Given the description of an element on the screen output the (x, y) to click on. 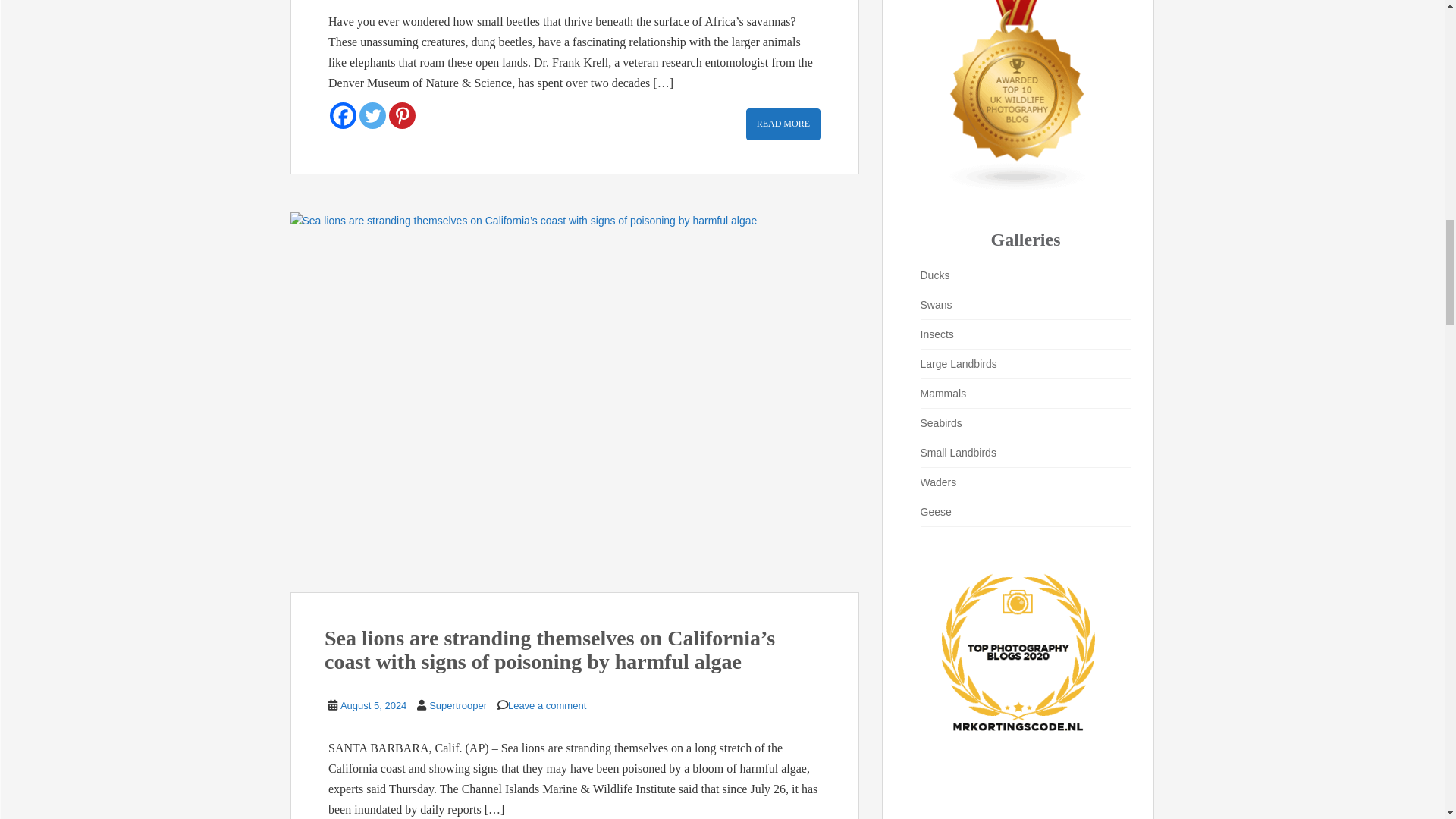
Twitter (372, 115)
READ MORE (783, 123)
Facebook (343, 115)
